Given the description of an element on the screen output the (x, y) to click on. 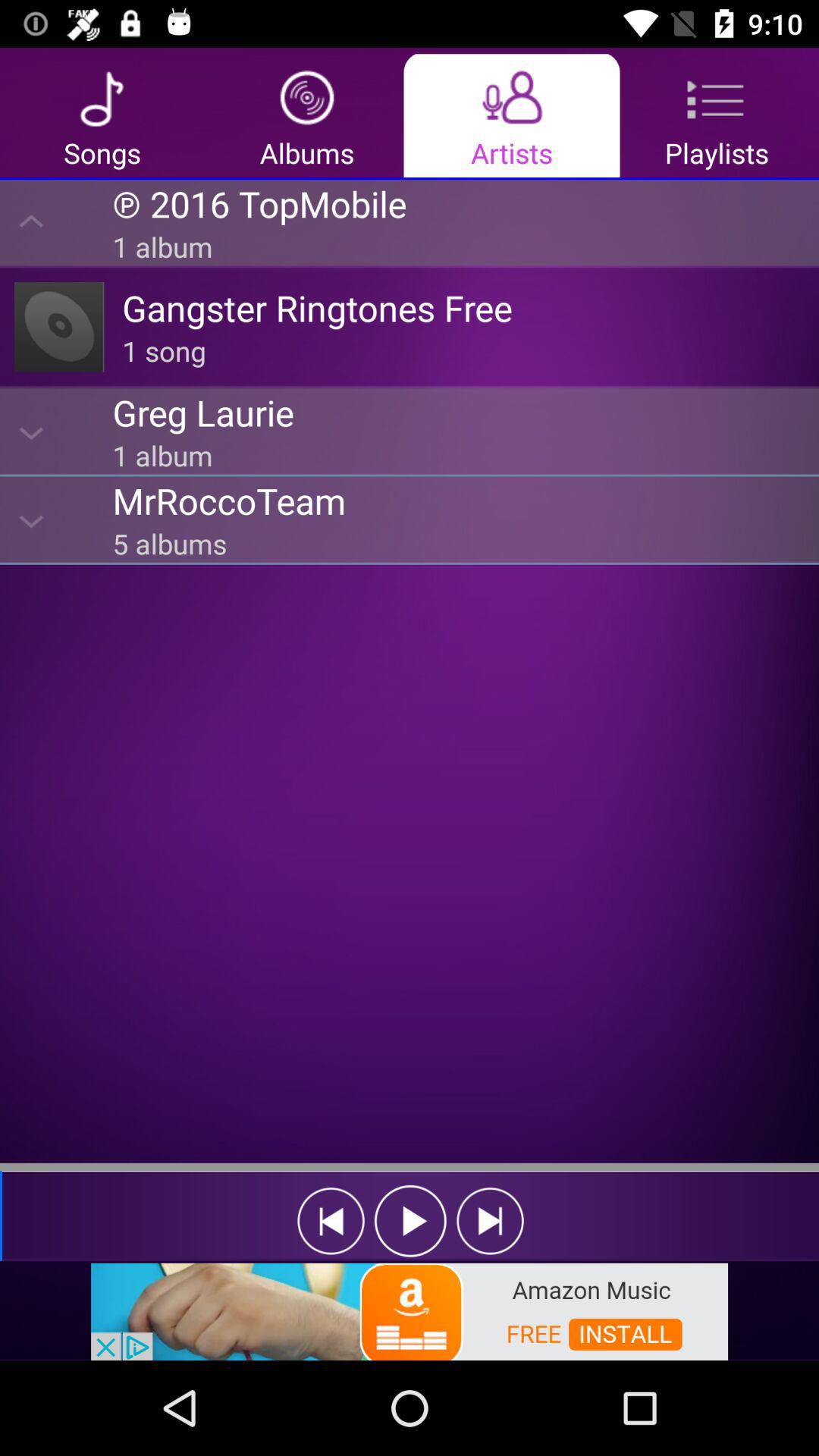
forward (490, 1220)
